Given the description of an element on the screen output the (x, y) to click on. 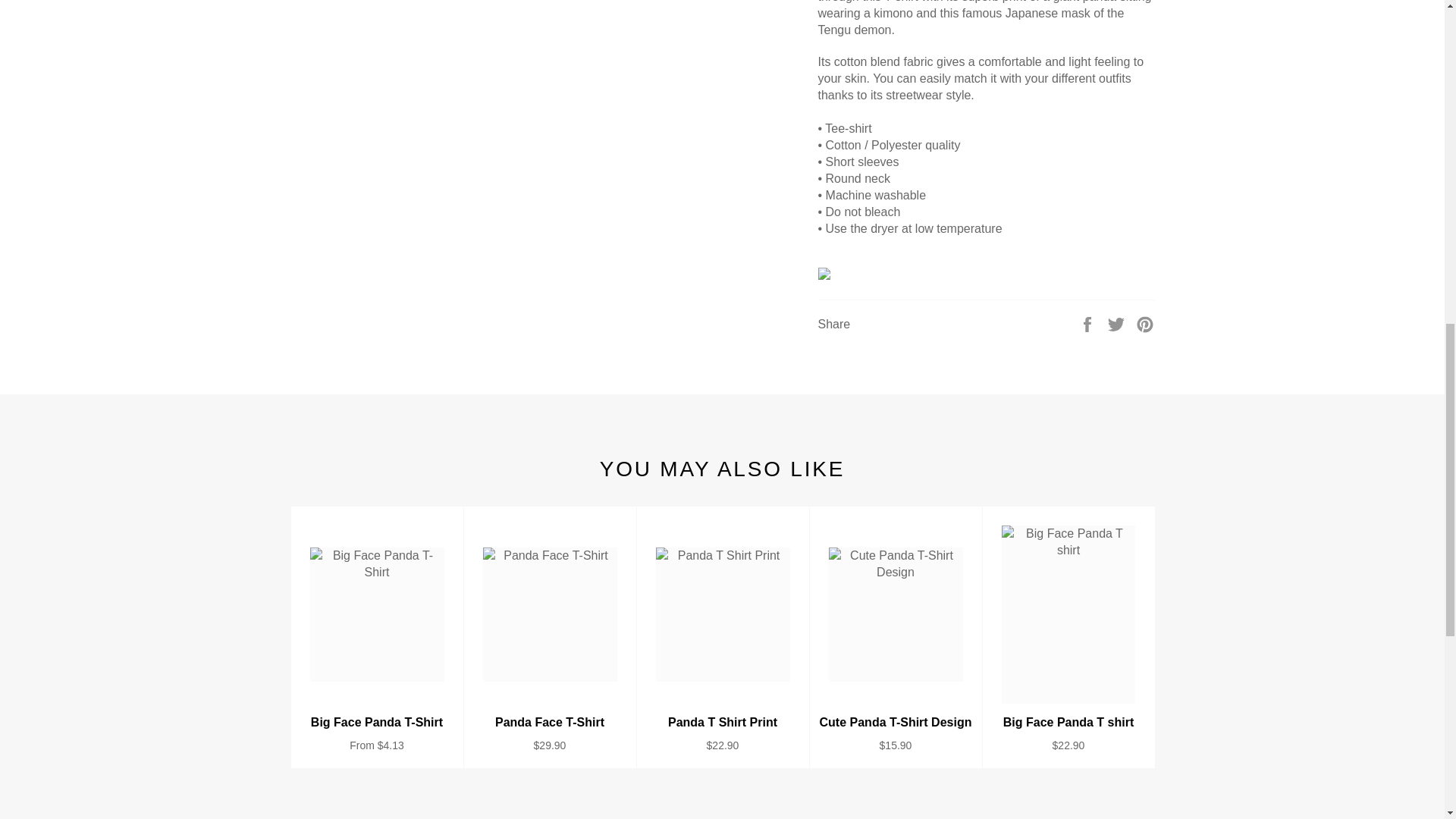
Share on Facebook (1088, 323)
Pin on Pinterest (1144, 323)
Tweet on Twitter (1117, 323)
